Given the description of an element on the screen output the (x, y) to click on. 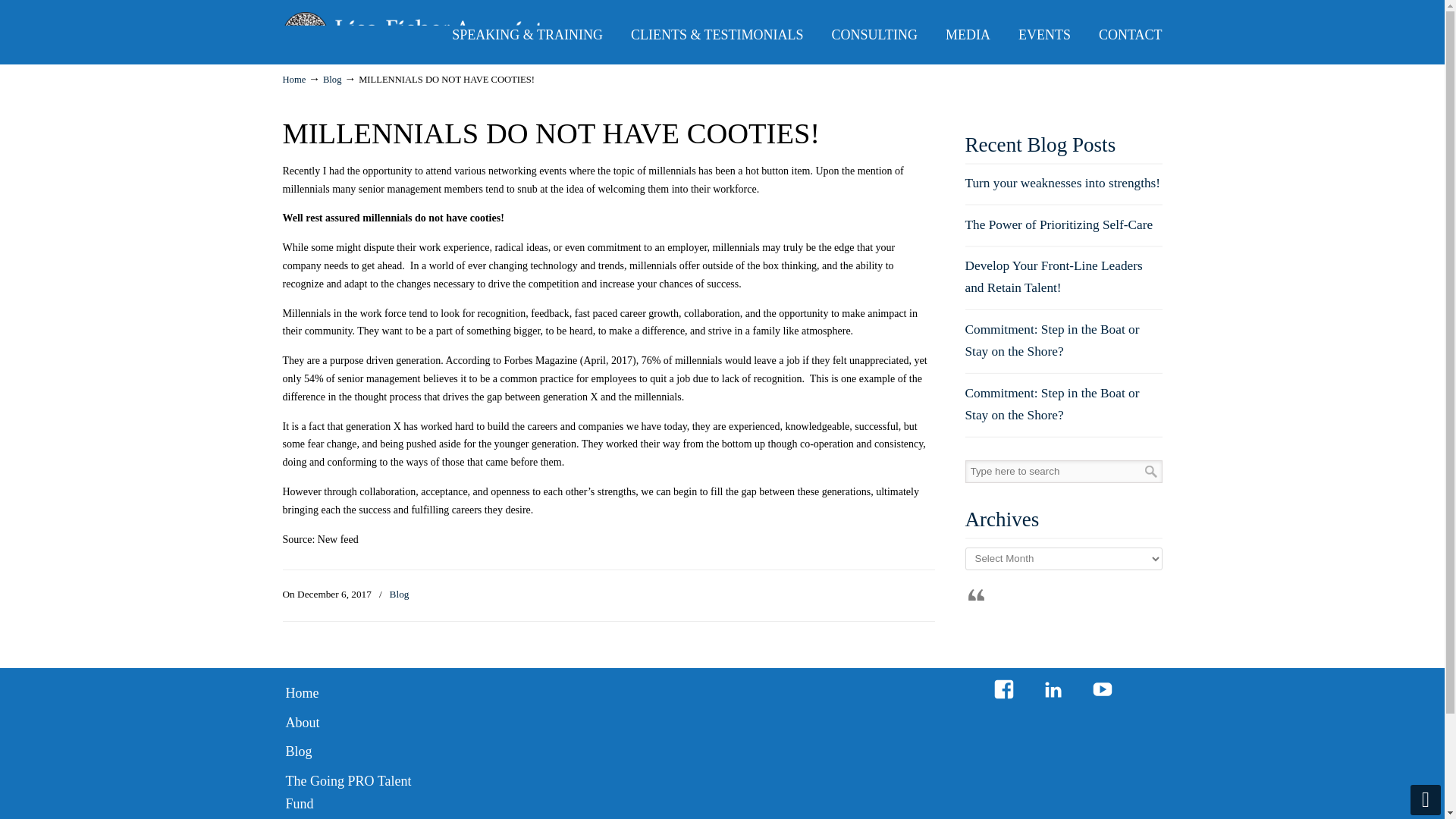
CONSULTING (874, 34)
Blog (357, 751)
Develop Your Front-Line Leaders and Retain Talent! (1052, 276)
CONTACT (1130, 34)
Blog (399, 594)
Turn your weaknesses into strengths! (1061, 183)
MEDIA (968, 34)
Commitment: Step in the Boat or Stay on the Shore?  (1050, 403)
